Given the description of an element on the screen output the (x, y) to click on. 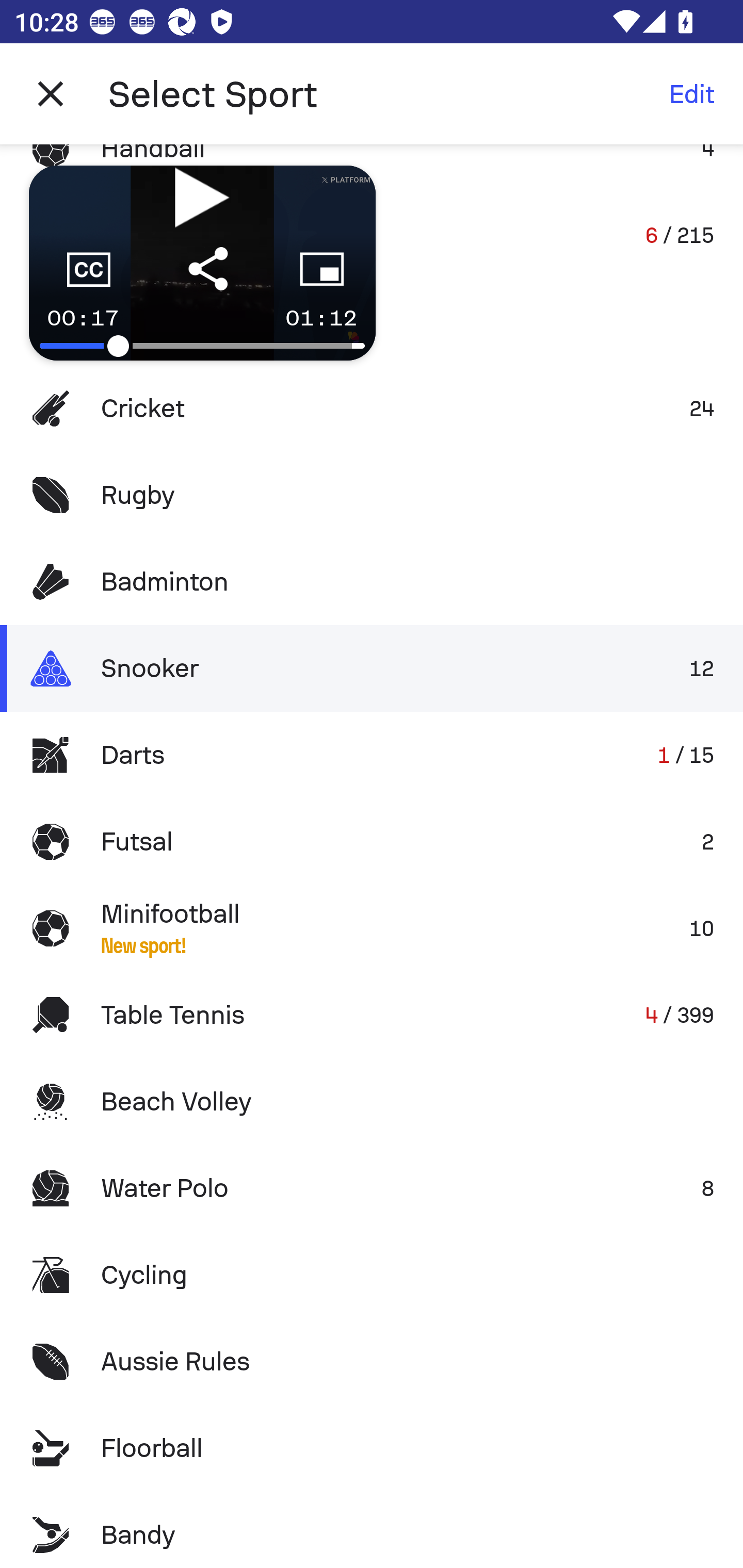
Edit (691, 93)
Cricket 24 (371, 408)
Rugby (371, 494)
Badminton (371, 581)
Snooker 12 (371, 668)
Darts 1 / 15 (371, 754)
Futsal 2 (371, 841)
Minifootball New sport! 10 (371, 928)
Table Tennis 4 / 399 (371, 1015)
Beach Volley (371, 1101)
Water Polo 8 (371, 1188)
Cycling (371, 1275)
Aussie Rules (371, 1361)
Floorball (371, 1447)
Bandy (371, 1529)
